Given the description of an element on the screen output the (x, y) to click on. 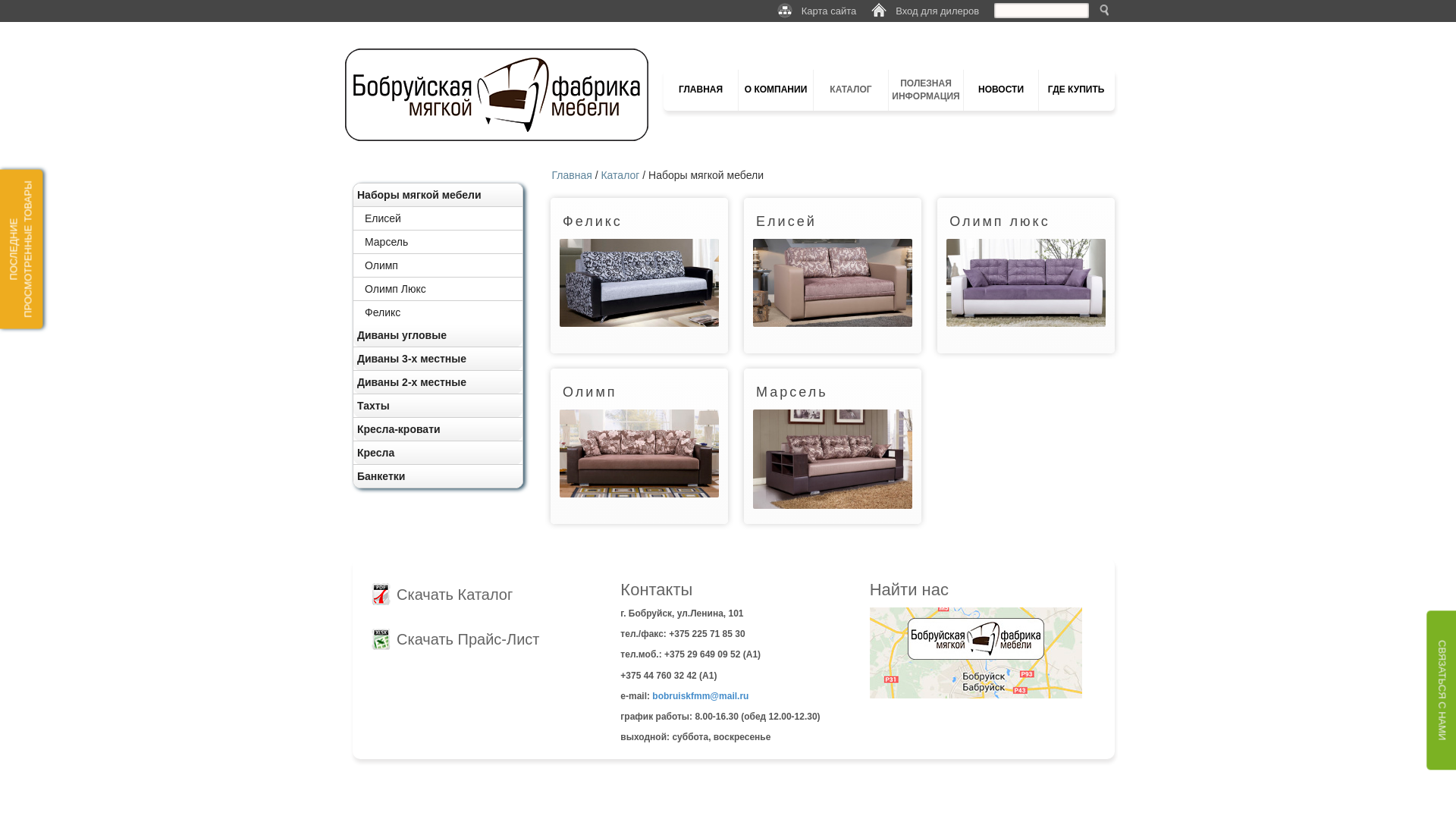
bobruiskfmm@mail.ru Element type: text (700, 695)
